Given the description of an element on the screen output the (x, y) to click on. 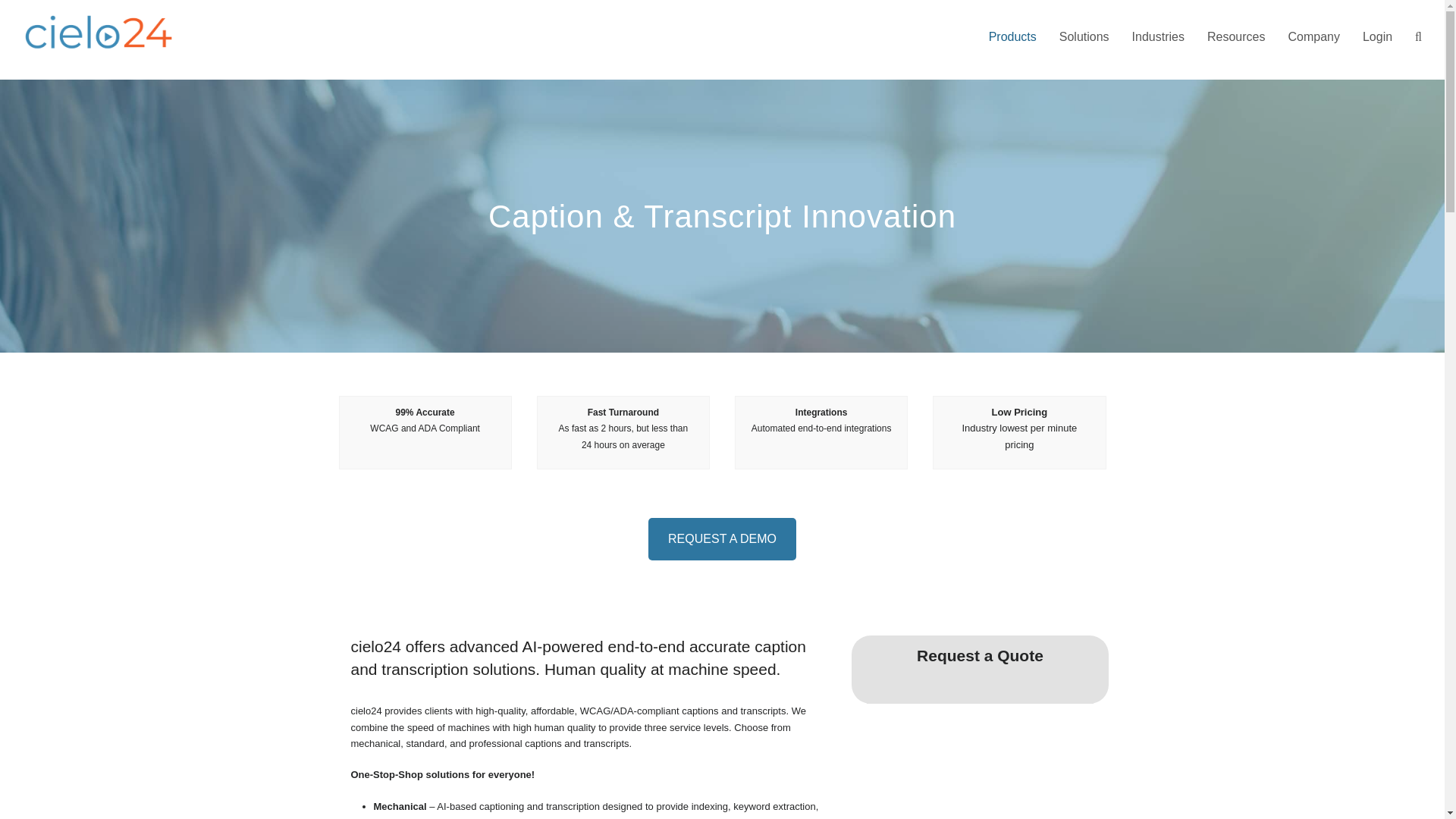
Industries (1158, 37)
Solutions (1084, 37)
Products (1012, 37)
Solutions (1084, 37)
Resources (1235, 37)
Resources (1235, 37)
Company (1313, 37)
Industries (1158, 37)
Products (1012, 37)
Company (1313, 37)
